Given the description of an element on the screen output the (x, y) to click on. 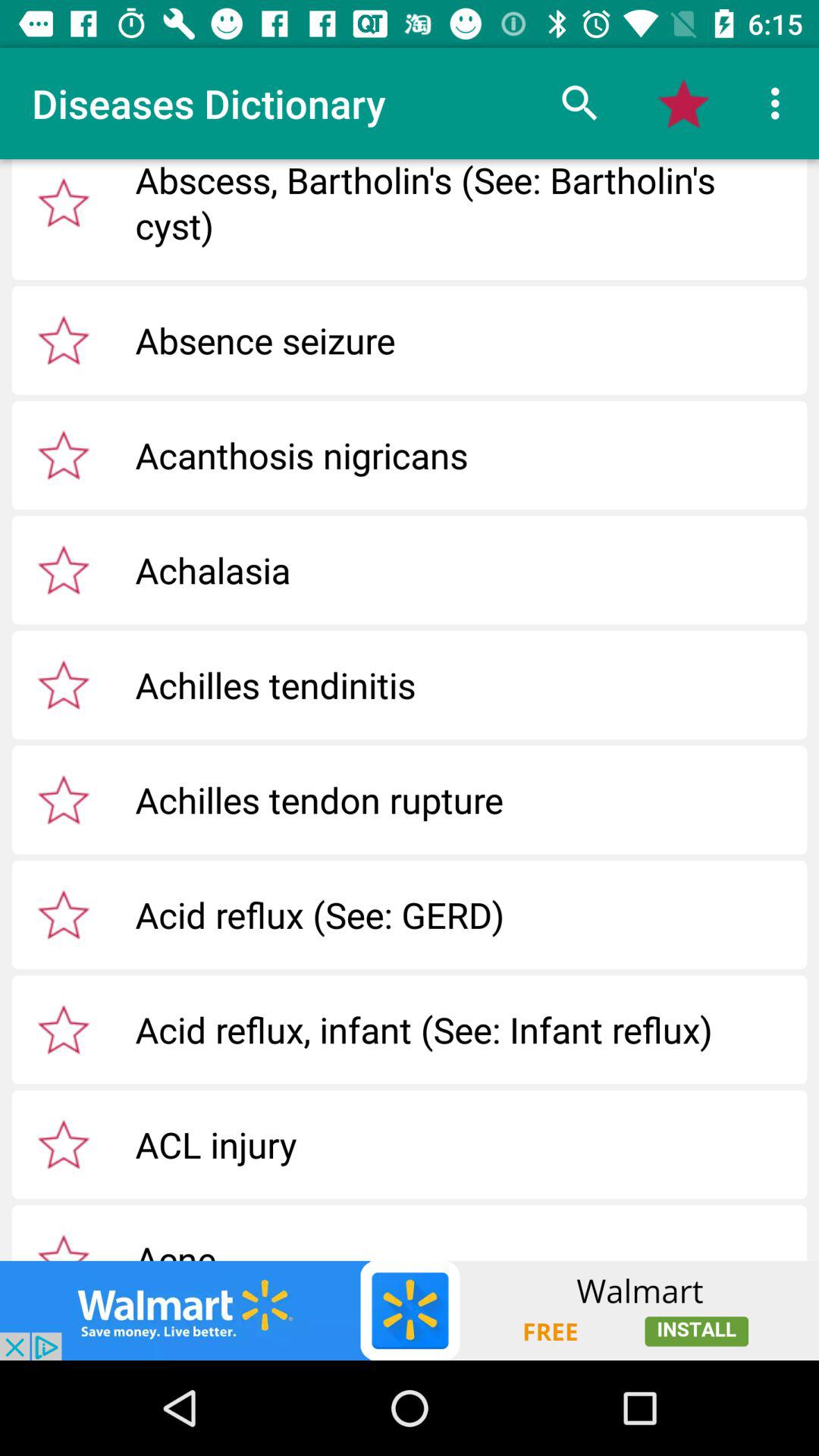
click the star option (63, 202)
